Given the description of an element on the screen output the (x, y) to click on. 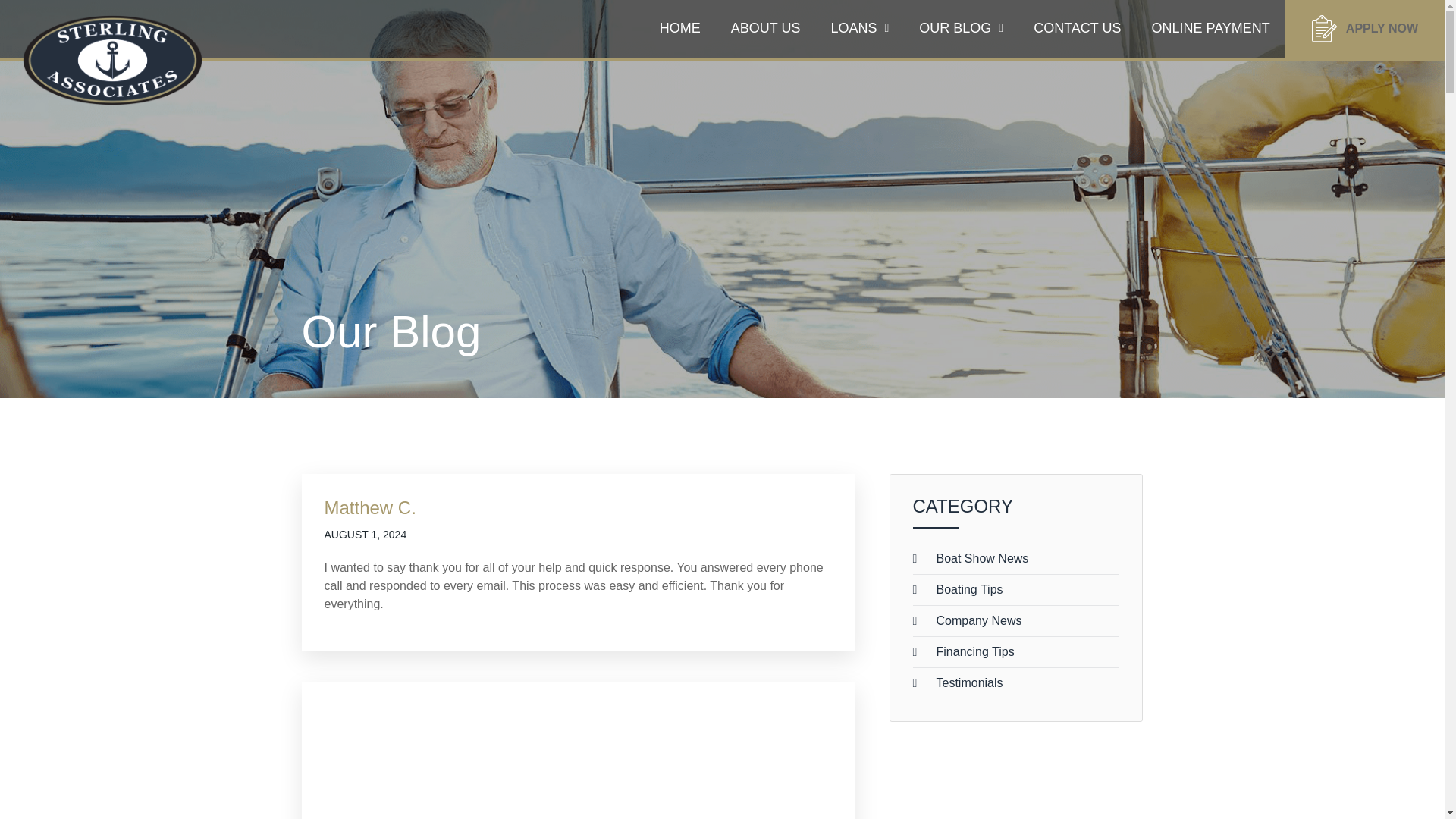
CONTACT US (1076, 28)
HOME (680, 28)
Matthew C. (370, 507)
LOANS (859, 28)
OUR BLOG (960, 28)
ONLINE PAYMENT (1209, 28)
ABOUT US (765, 28)
